Given the description of an element on the screen output the (x, y) to click on. 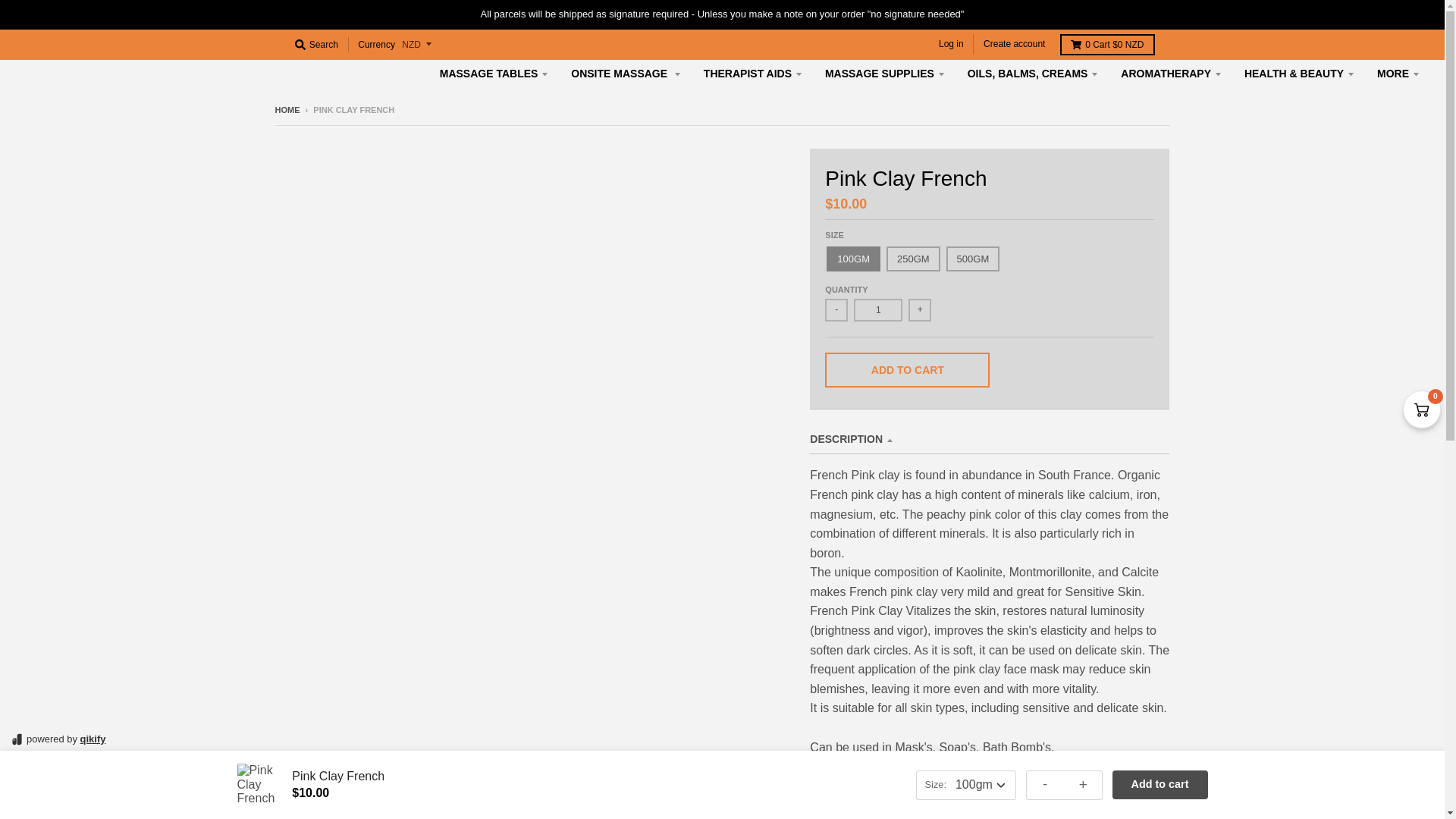
MASSAGE SUPPLIES (885, 72)
Search (315, 44)
Log in (951, 44)
250gm (913, 258)
THERAPIST AIDS (753, 72)
OILS, BALMS, CREAMS (1033, 72)
ONSITE MASSAGE (625, 72)
1 (877, 309)
100gm (853, 258)
MASSAGE TABLES (494, 72)
Back to the frontpage (287, 109)
Create account (1013, 44)
